Given the description of an element on the screen output the (x, y) to click on. 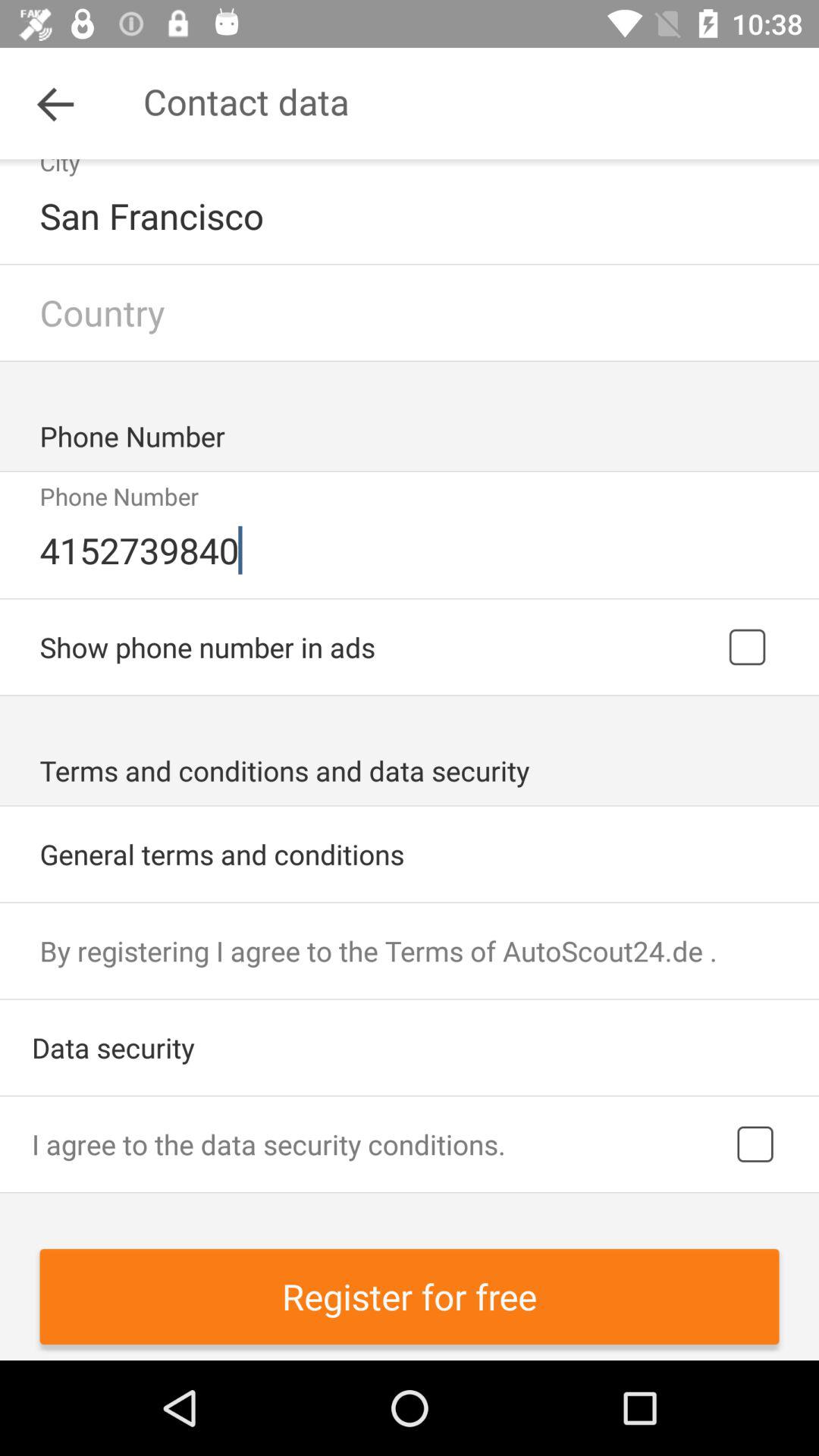
enter country (409, 312)
